Given the description of an element on the screen output the (x, y) to click on. 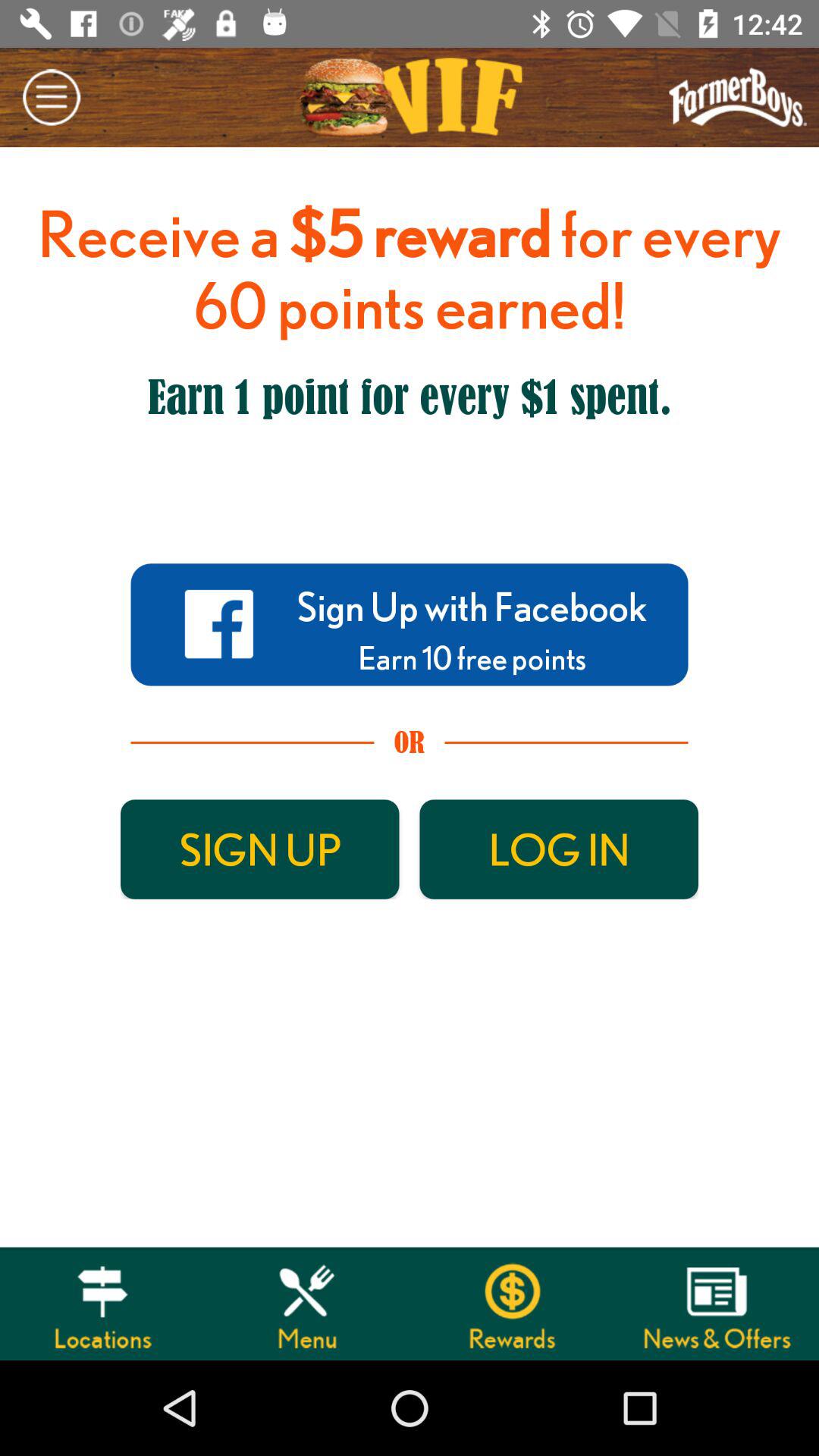
select the text which is to the immediate right of vif (738, 97)
